Given the description of an element on the screen output the (x, y) to click on. 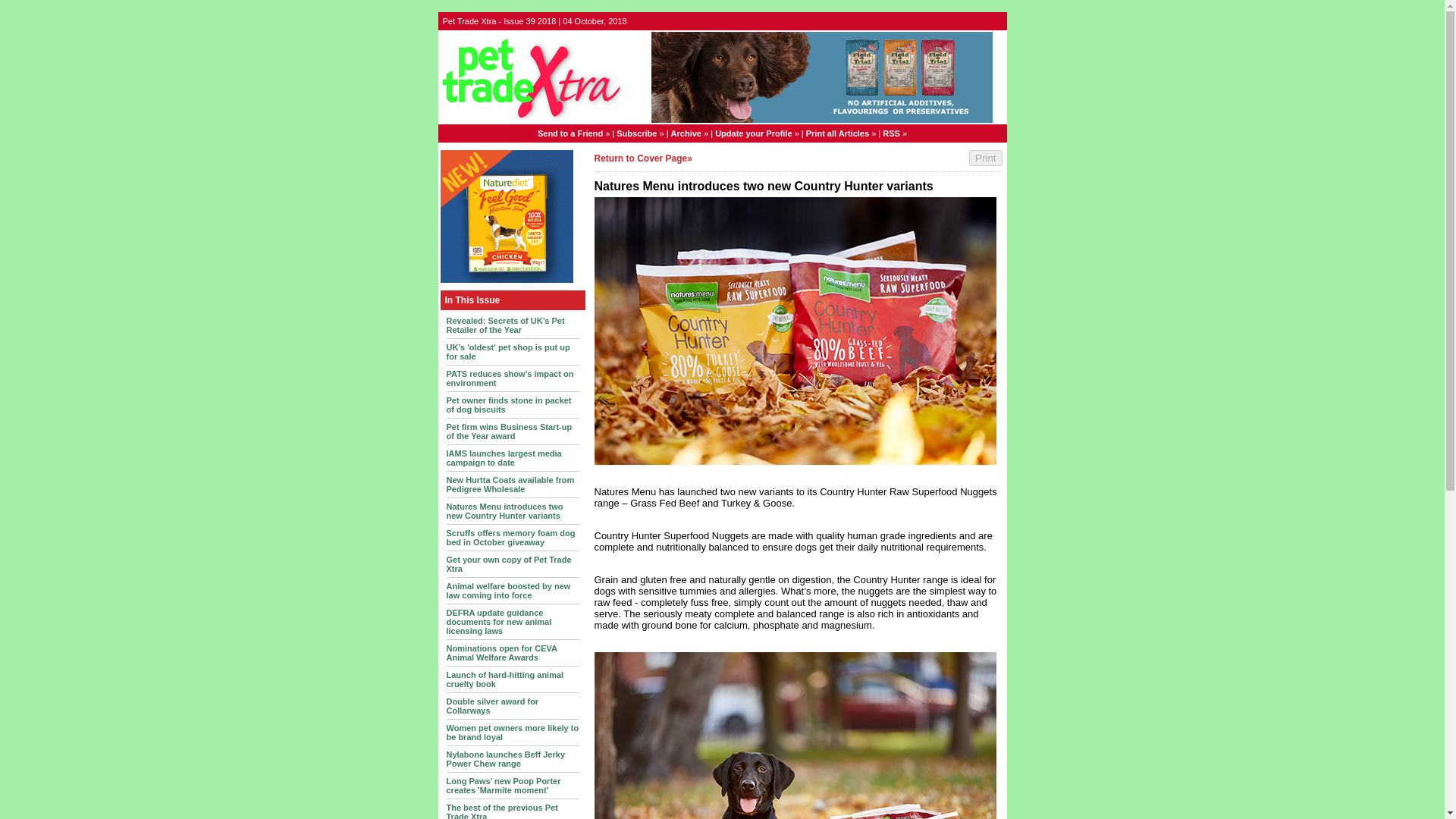
Pet firm wins Business Start-up of the Year award (508, 431)
Women pet owners more likely to be brand loyal (511, 732)
Double silver award for Collarways (491, 705)
Print (985, 157)
Send to a Friend (569, 133)
RSS (890, 133)
Get your own copy of Pet Trade Xtra (507, 564)
Pet owner finds stone in packet of dog biscuits (507, 404)
Nylabone launches Beff Jerky Power Chew range (504, 759)
The best of the previous Pet Trade Xtra (501, 811)
Subscribe (635, 133)
New Hurtta Coats available from Pedigree Wholesale (509, 484)
Natures Menu introduces two new Country Hunter variants (503, 511)
Scruffs offers memory foam dog bed in October giveaway (510, 537)
